Given the description of an element on the screen output the (x, y) to click on. 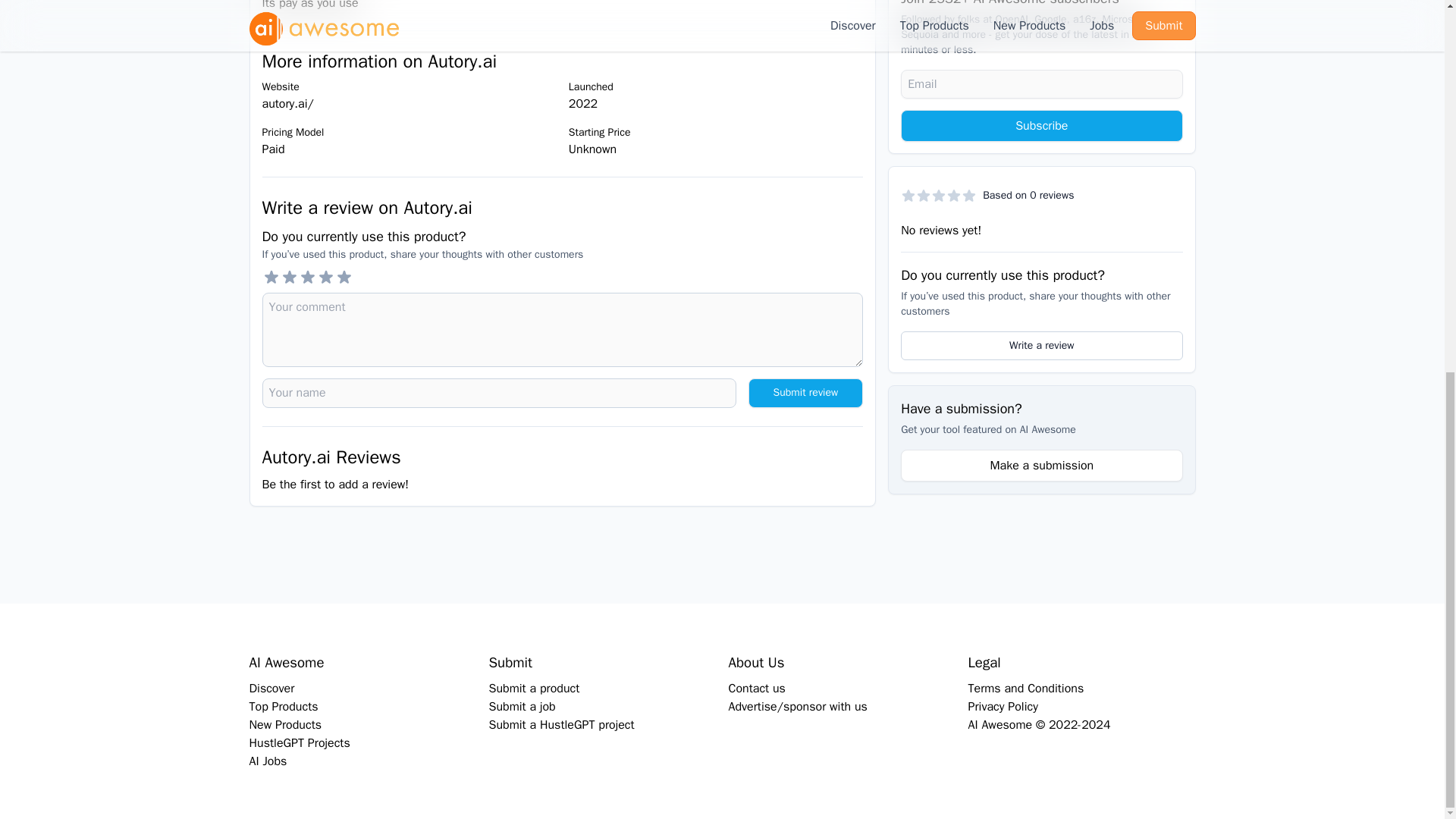
Subscribe (1041, 47)
Make a submission (1041, 387)
Submit a HustleGPT project (560, 724)
HustleGPT Projects (298, 743)
Contact us (756, 688)
AI Jobs (267, 761)
Submit review (805, 392)
Make a submission (1041, 381)
New Products (284, 724)
Terms and Conditions (1025, 688)
Discover (271, 688)
Top Products (282, 706)
Submit a job (520, 706)
Privacy Policy (1002, 706)
Write a review (1041, 267)
